Given the description of an element on the screen output the (x, y) to click on. 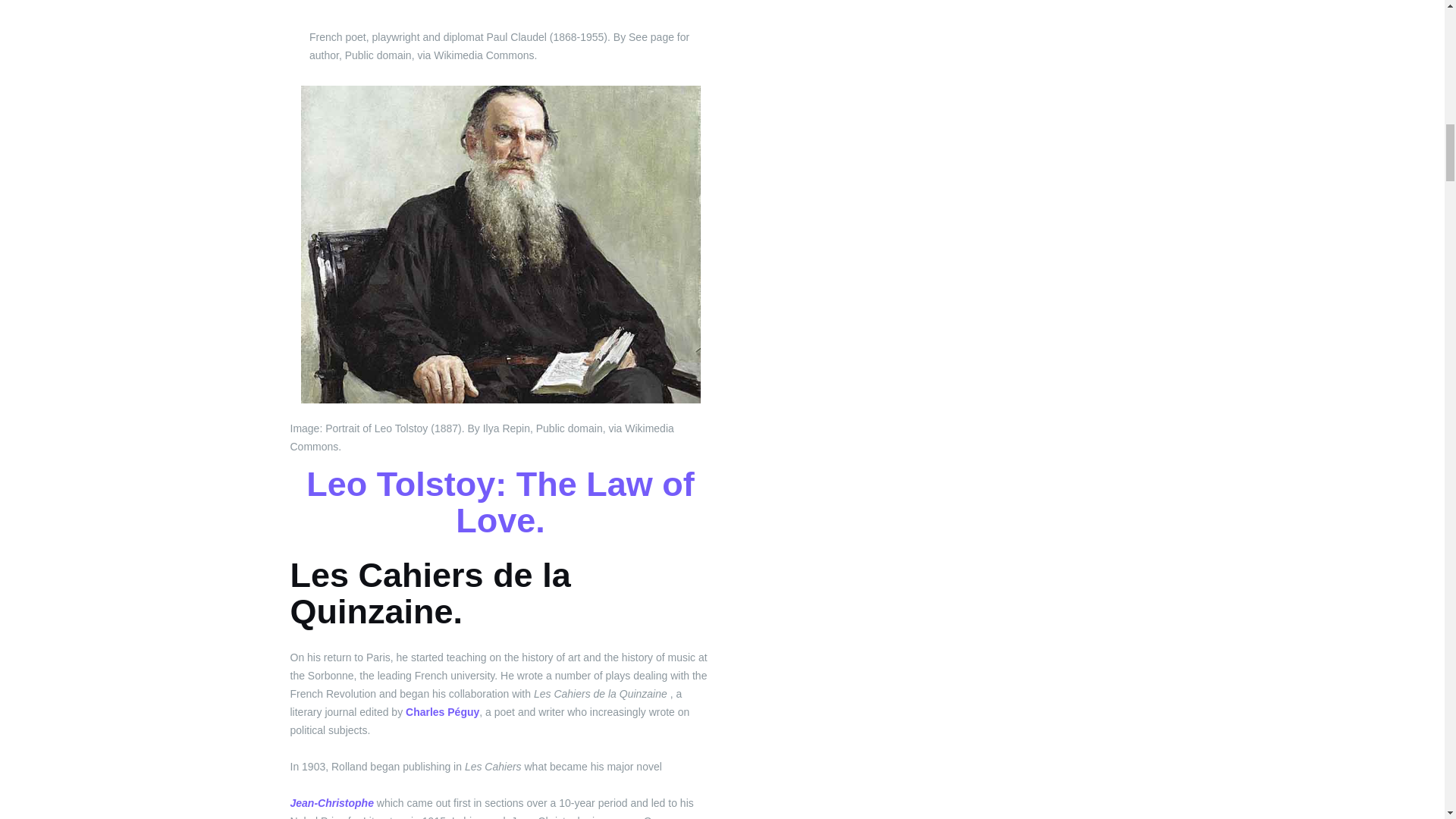
Leo Tolstoy: The Law of Love. (499, 502)
Jean-Christophe (330, 802)
